Given the description of an element on the screen output the (x, y) to click on. 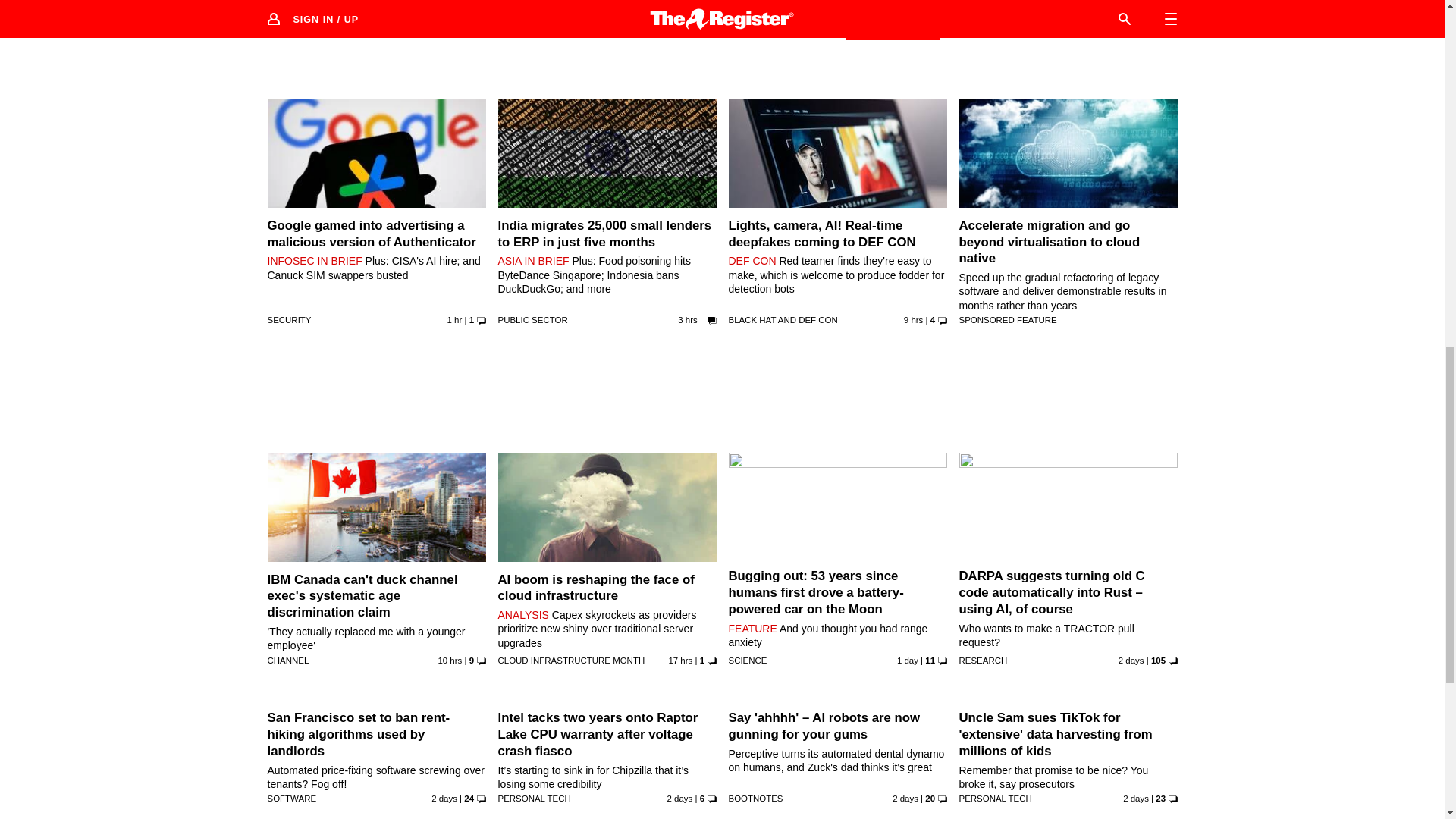
5 Aug 2024 1:0 (687, 319)
2 Aug 2024 21:57 (443, 798)
2 Aug 2024 20:14 (679, 798)
3 Aug 2024 19:2 (907, 660)
5 Aug 2024 2:0 (454, 319)
4 Aug 2024 18:42 (913, 319)
4 Aug 2024 17:20 (449, 660)
3 Aug 2024 10:3 (1131, 660)
View comments on this article (892, 31)
4 Aug 2024 11:0 (680, 660)
